Given the description of an element on the screen output the (x, y) to click on. 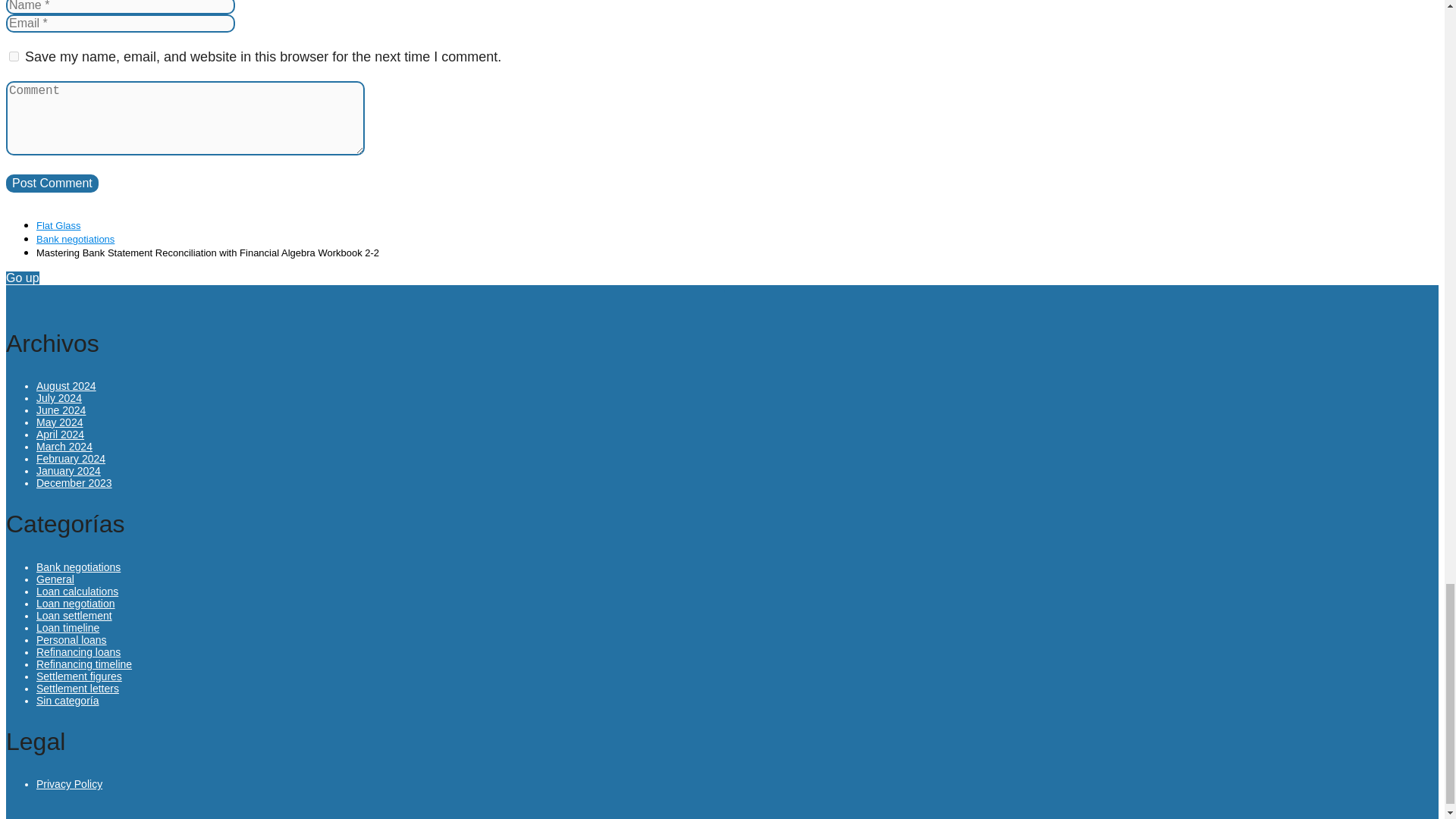
June 2024 (60, 410)
March 2024 (64, 446)
Loan timeline (67, 627)
December 2023 (74, 482)
April 2024 (60, 434)
General (55, 579)
Refinancing loans (78, 652)
Flat Glass (58, 225)
Post Comment (52, 183)
Loan negotiation (75, 603)
